Given the description of an element on the screen output the (x, y) to click on. 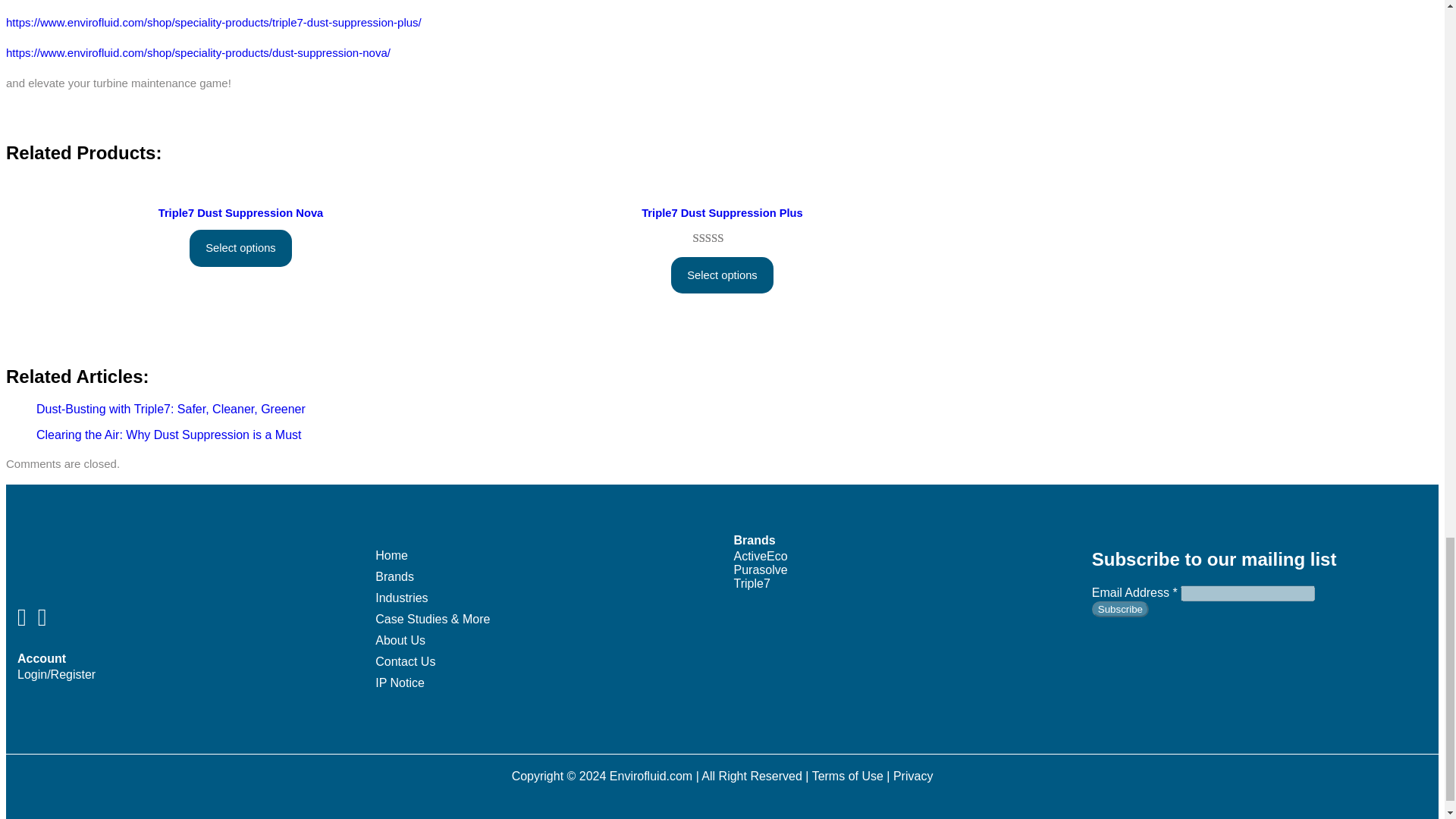
Subscribe (1120, 609)
